Given the description of an element on the screen output the (x, y) to click on. 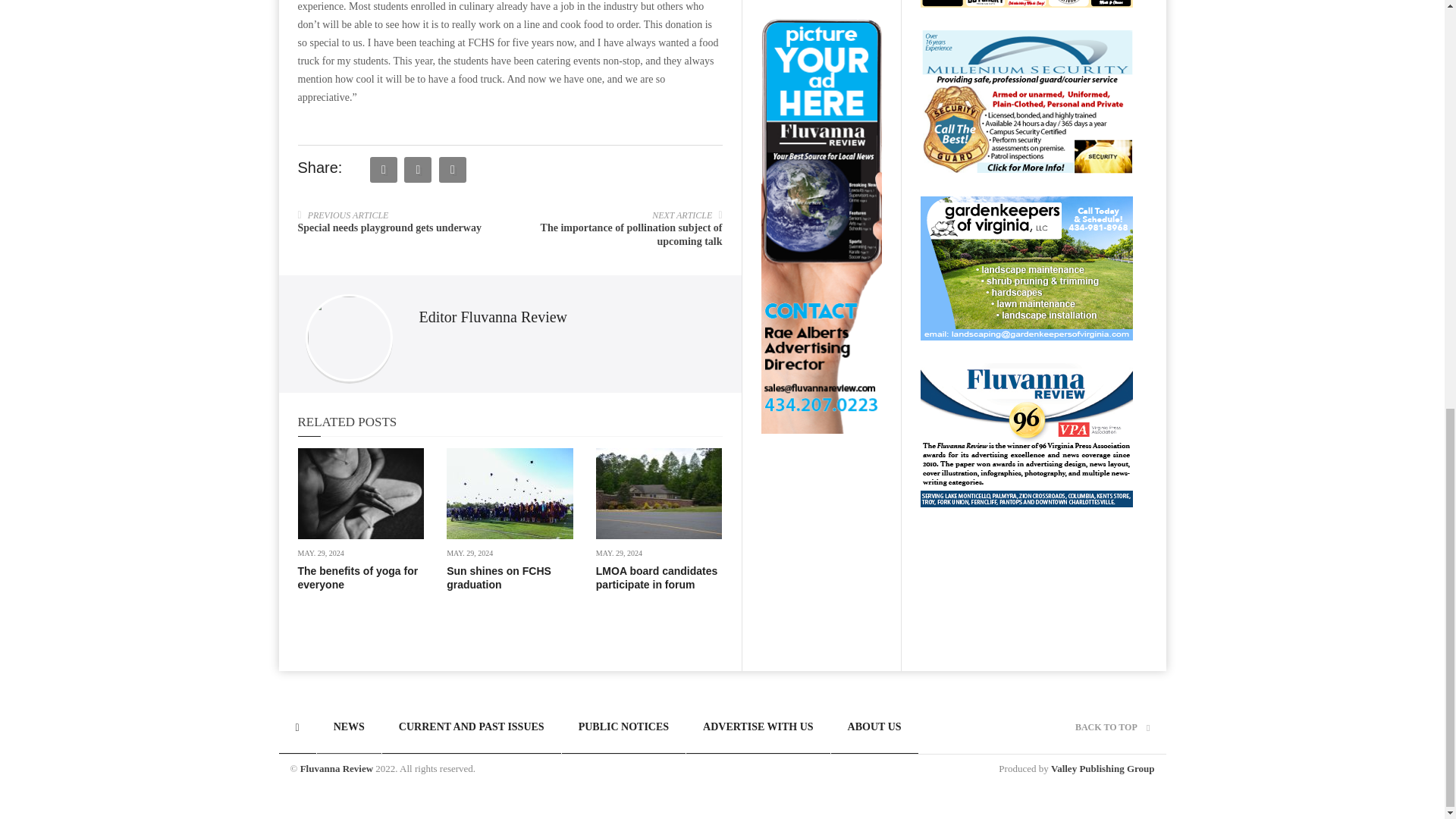
Posts by Editor Fluvanna Review (493, 316)
BACK TO TOP (1112, 726)
